Given the description of an element on the screen output the (x, y) to click on. 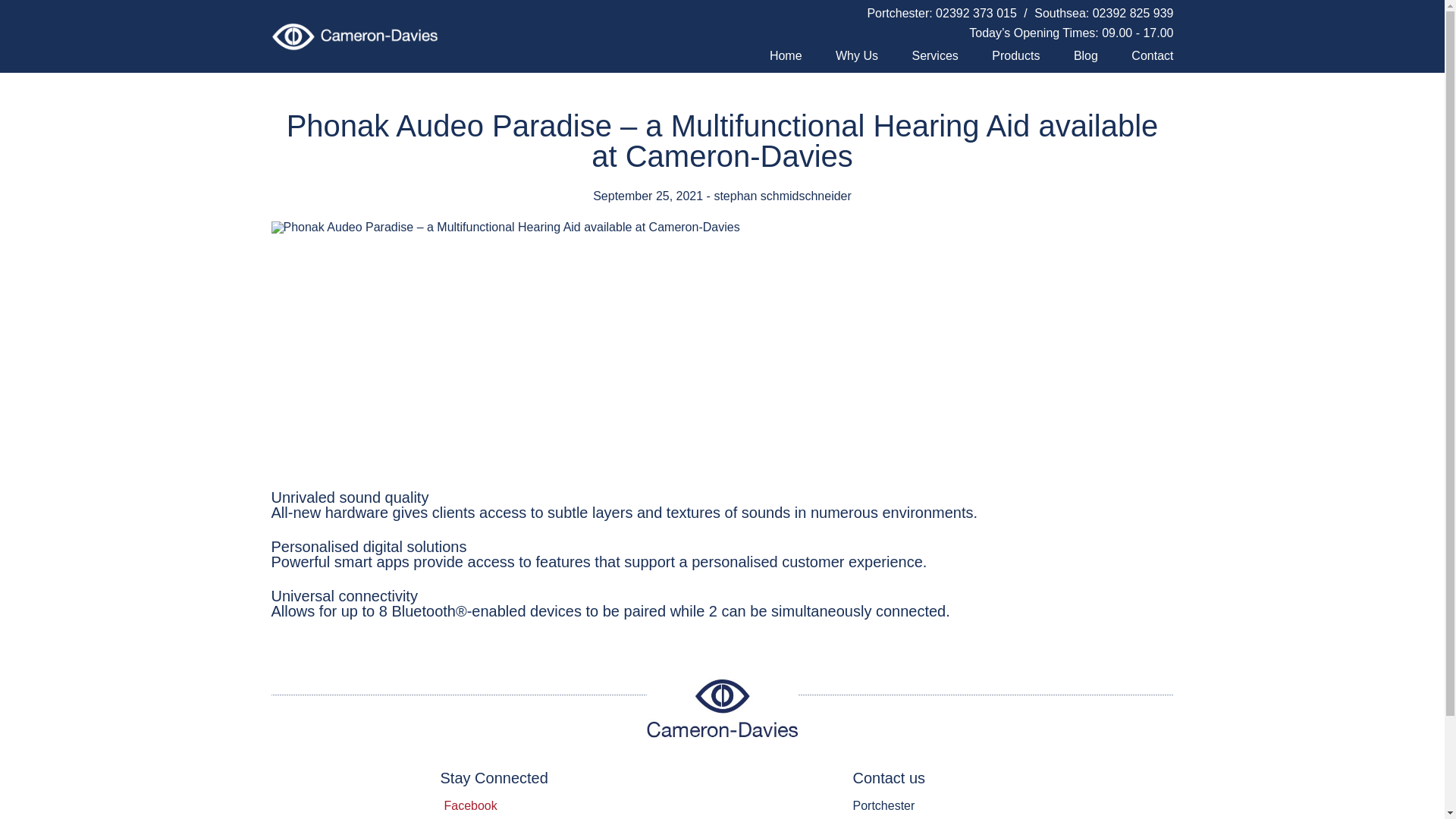
Blog (1085, 55)
Home (786, 55)
Facebook (471, 805)
02392 825 939 (1133, 12)
02392 373 015 (976, 12)
Products (1015, 55)
Contact (1152, 55)
Instagram (472, 818)
Phonak Paradise: Swiss Alps (460, 359)
Services (934, 55)
Why Us (856, 55)
